Given the description of an element on the screen output the (x, y) to click on. 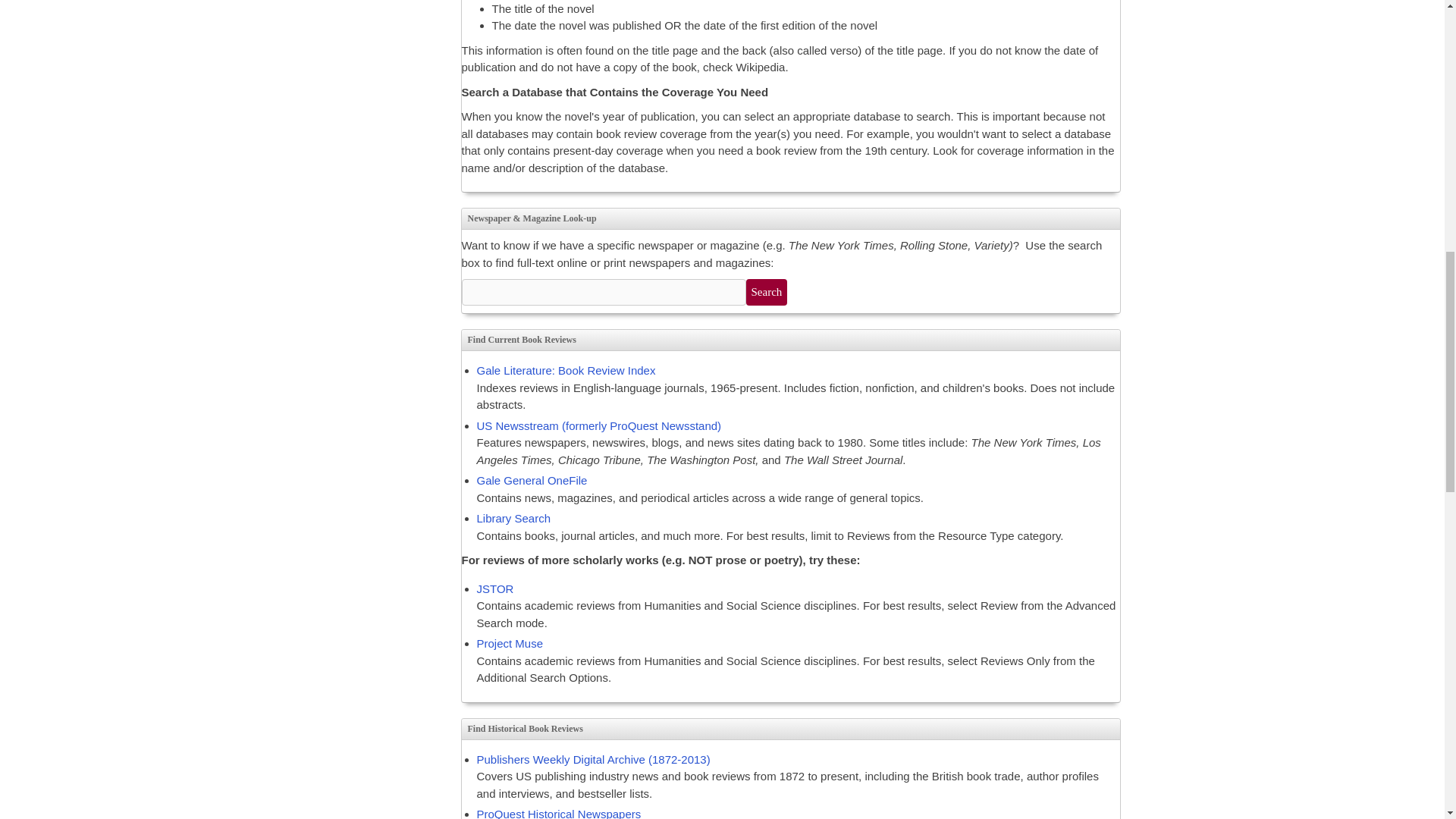
Gale General OneFile (531, 480)
ProQuest Historical Newspapers (558, 813)
Search (766, 292)
Library Search (513, 517)
JSTOR (494, 588)
Gale Literature: Book Review Index (565, 369)
Project Muse (509, 643)
Search (766, 292)
